Given the description of an element on the screen output the (x, y) to click on. 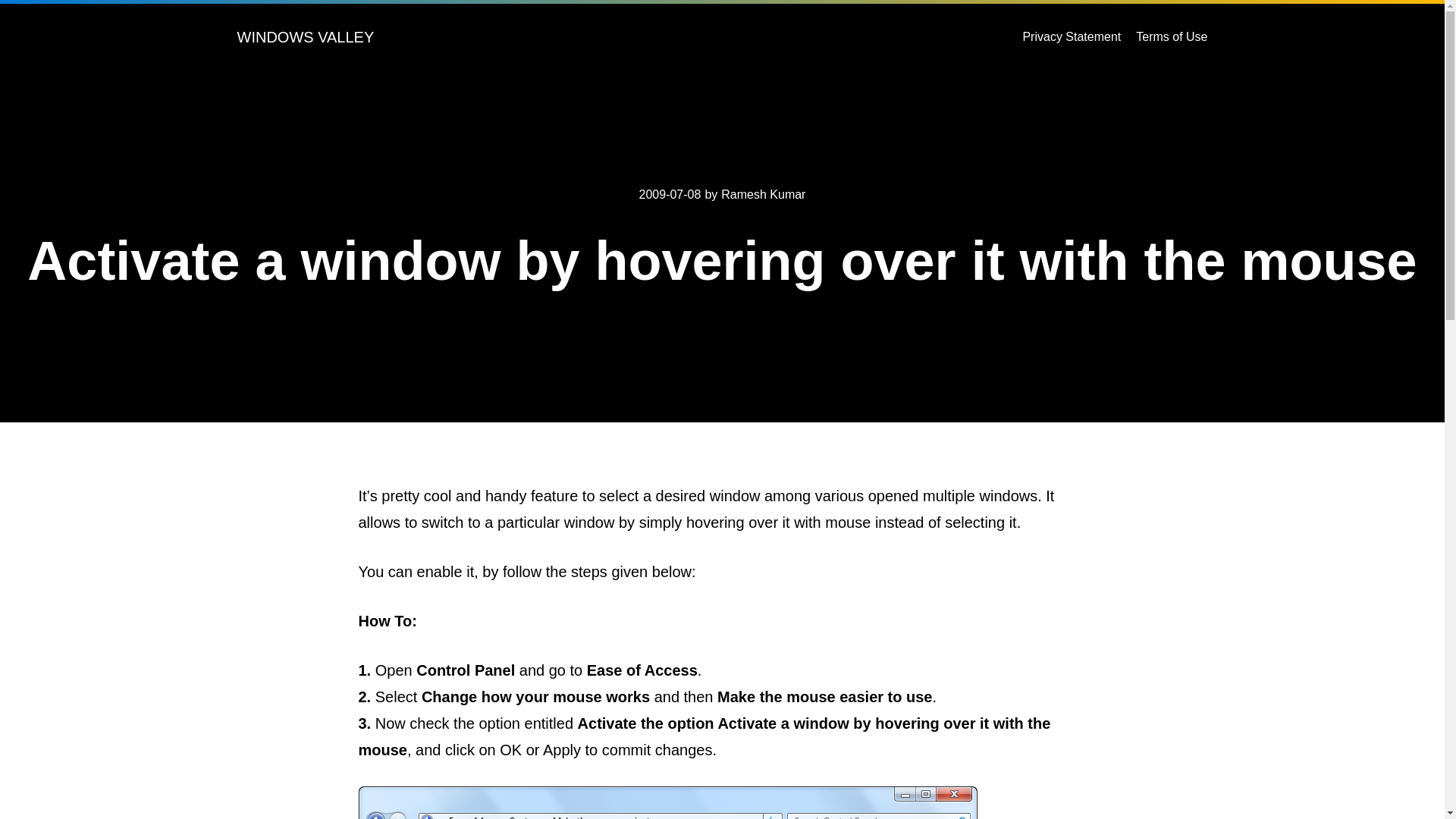
WINDOWS VALLEY (304, 36)
Terms of Use (1171, 36)
Privacy Statement (1071, 36)
hovering (667, 802)
